Given the description of an element on the screen output the (x, y) to click on. 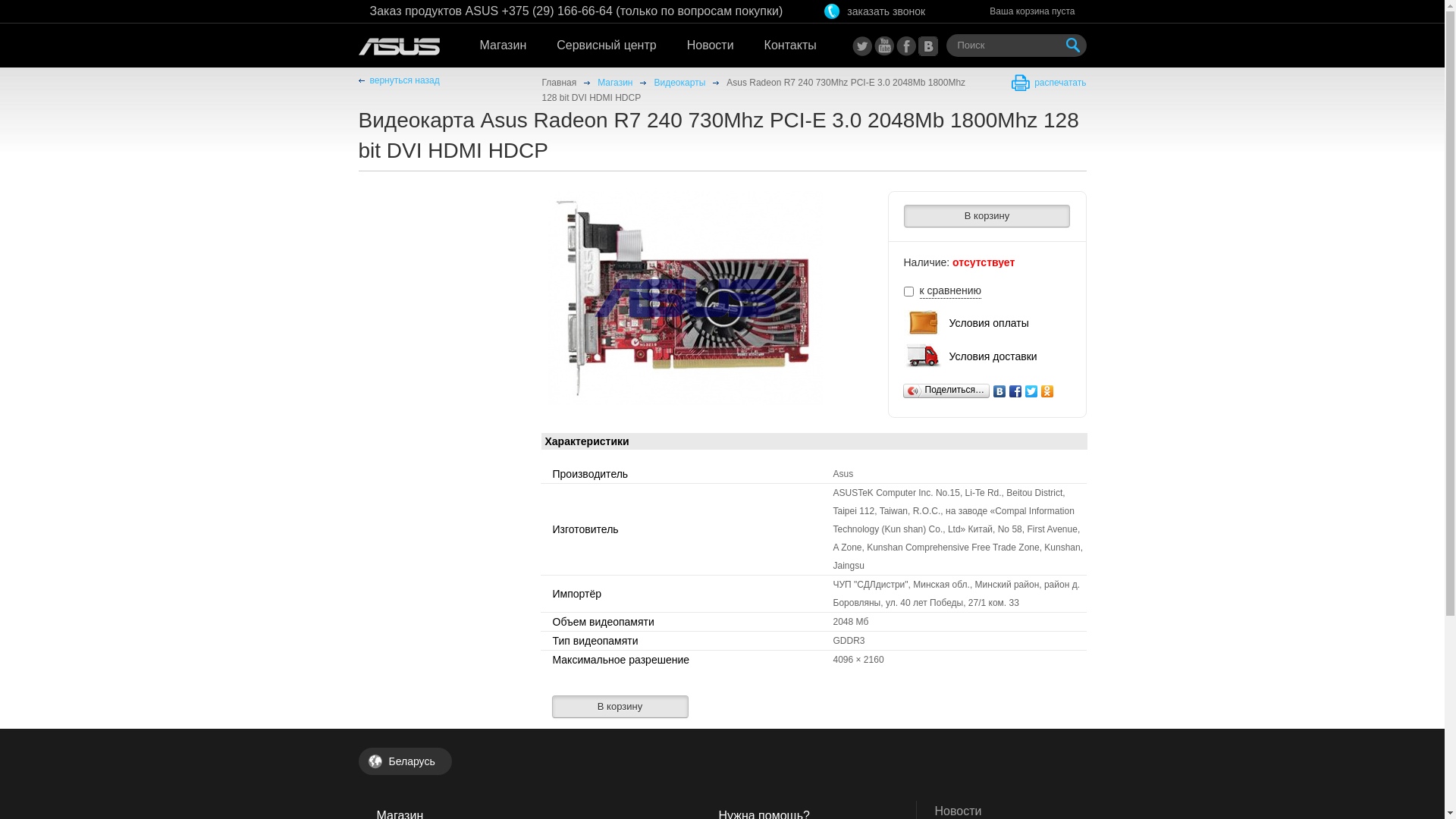
Twitter Element type: hover (1031, 391)
ASUS Element type: text (410, 46)
on Element type: text (908, 291)
Facebook Element type: hover (1015, 391)
1/1 Element type: hover (685, 296)
